Given the description of an element on the screen output the (x, y) to click on. 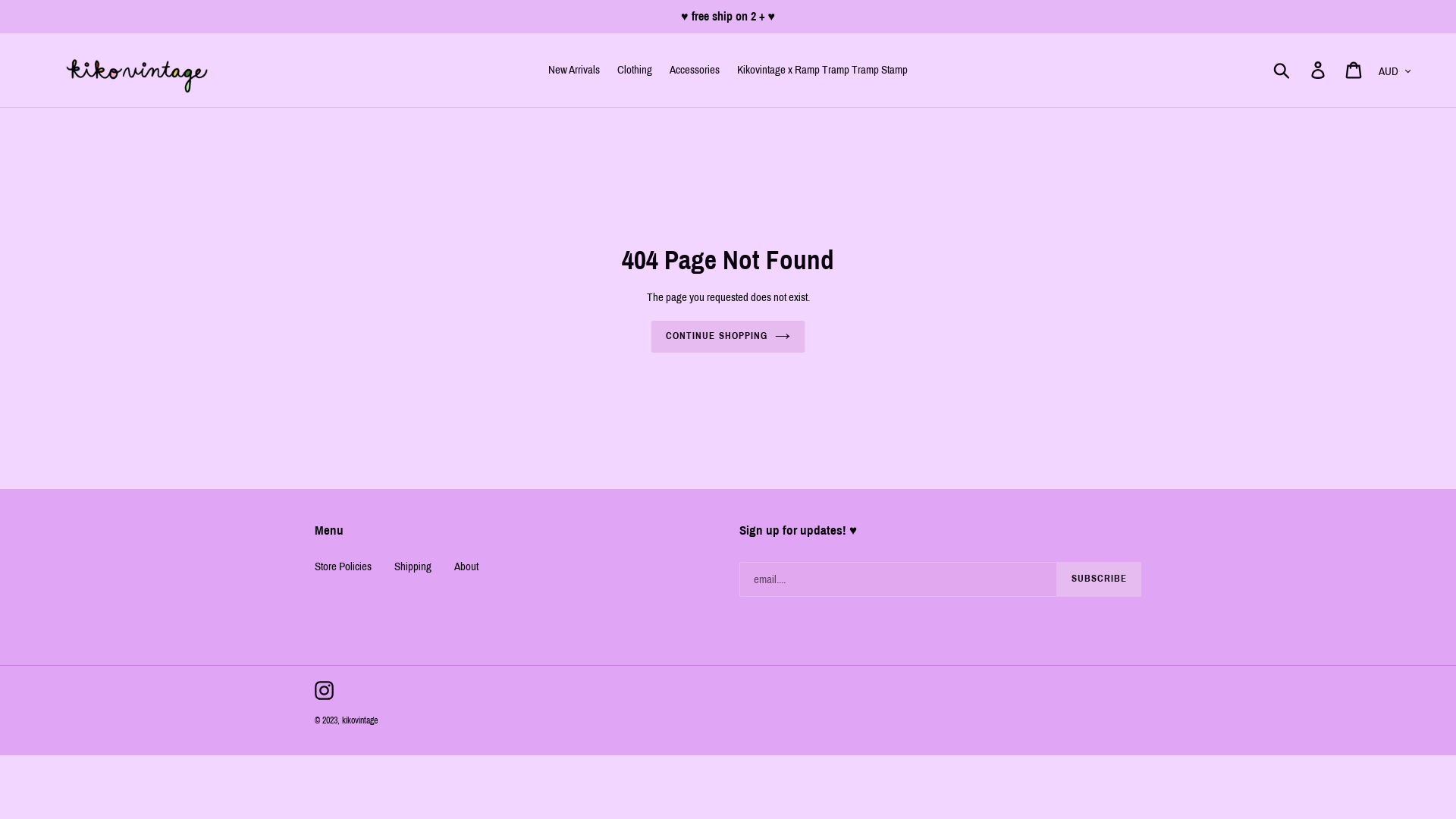
SUBSCRIBE Element type: text (1099, 578)
Kikovintage x Ramp Tramp Tramp Stamp Element type: text (822, 70)
Log in Element type: text (1318, 70)
Shipping Element type: text (412, 566)
Instagram Element type: text (323, 689)
Accessories Element type: text (694, 70)
kikovintage Element type: text (359, 720)
Cart Element type: text (1354, 70)
CONTINUE SHOPPING Element type: text (727, 336)
Store Policies Element type: text (342, 566)
Submit Element type: text (1282, 69)
Clothing Element type: text (634, 70)
About Element type: text (466, 566)
New Arrivals Element type: text (573, 70)
